Given the description of an element on the screen output the (x, y) to click on. 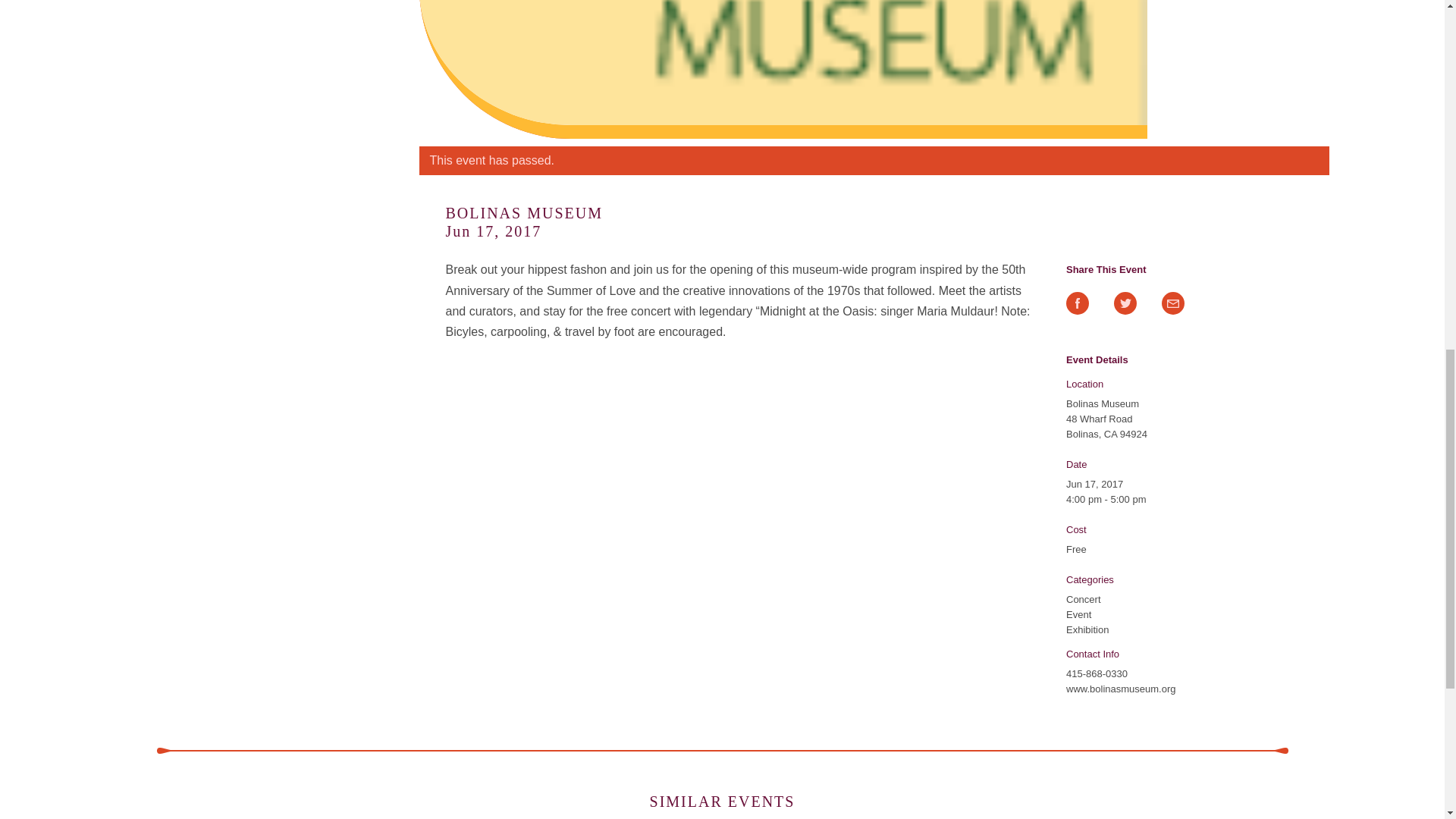
www.bolinasmuseum.org (1120, 688)
Exhibition (1086, 629)
Concert (1082, 599)
Event (1077, 614)
